Given the description of an element on the screen output the (x, y) to click on. 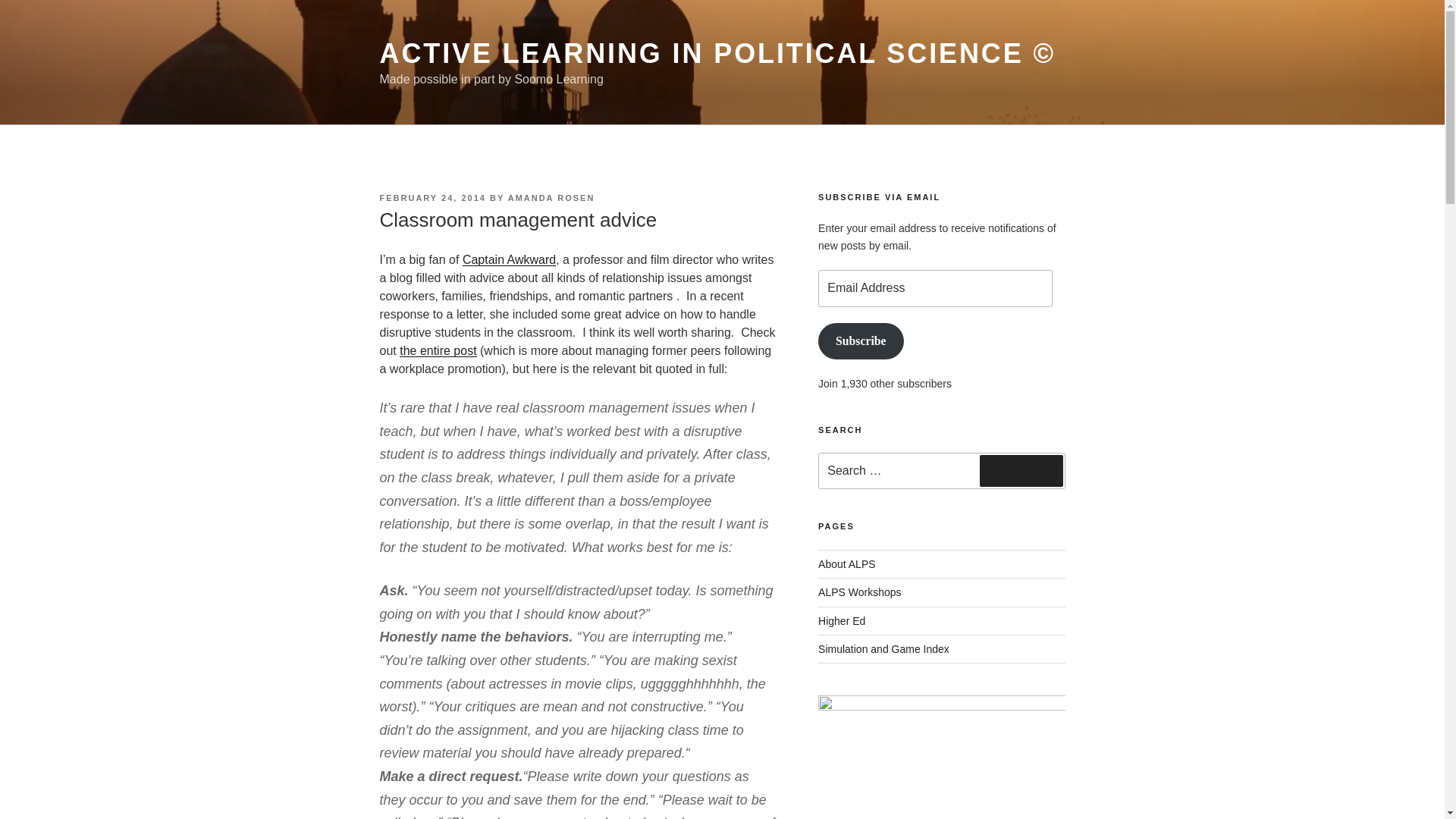
the entire post (437, 350)
ALPS Workshops (859, 592)
Higher Ed (841, 620)
AMANDA ROSEN (551, 197)
Subscribe (860, 341)
About ALPS (847, 563)
Captain Awkward (509, 259)
Search (1020, 470)
FEBRUARY 24, 2014 (431, 197)
Simulation and Game Index (883, 648)
